Given the description of an element on the screen output the (x, y) to click on. 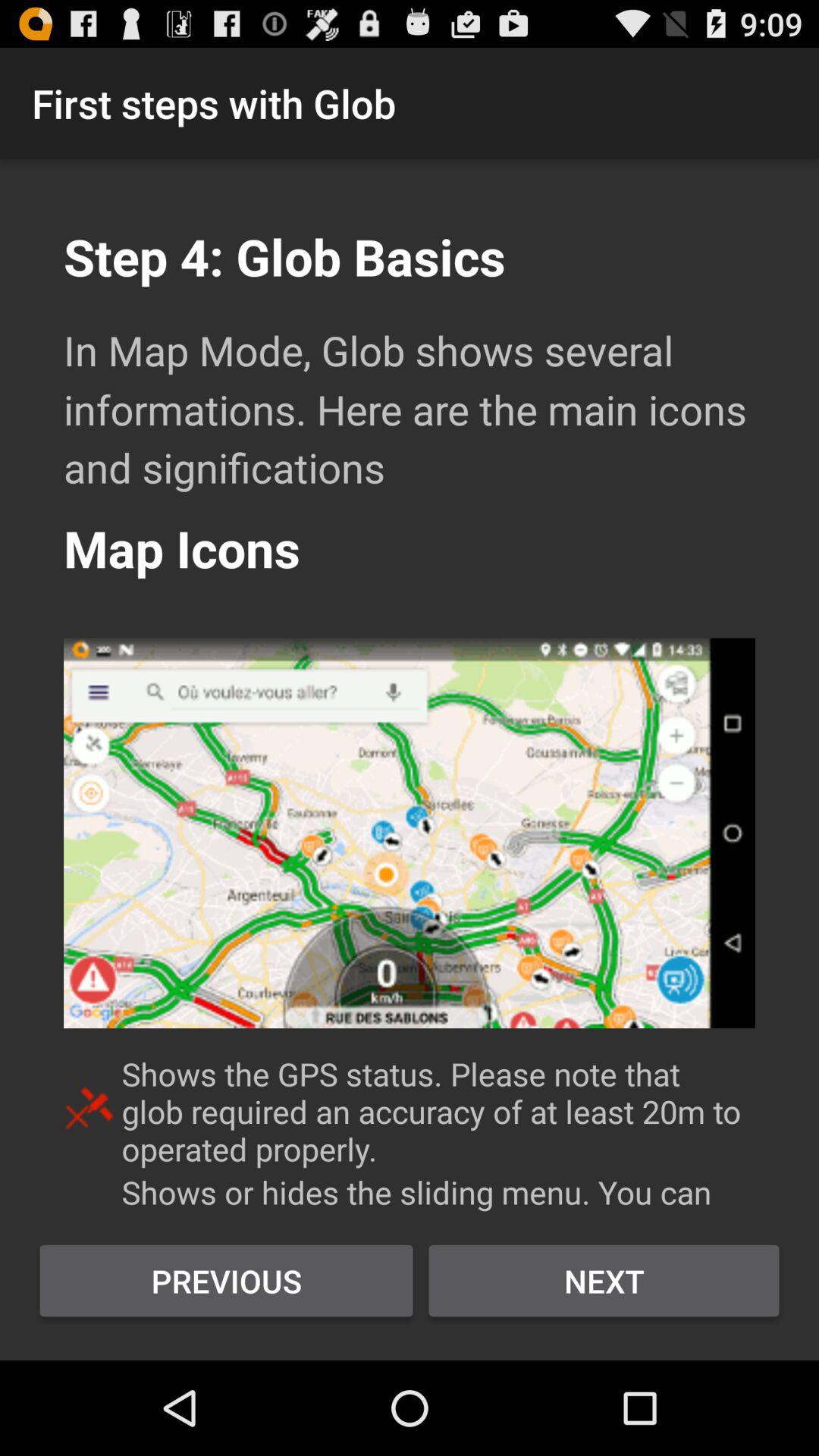
click icon to the right of the previous button (603, 1280)
